Given the description of an element on the screen output the (x, y) to click on. 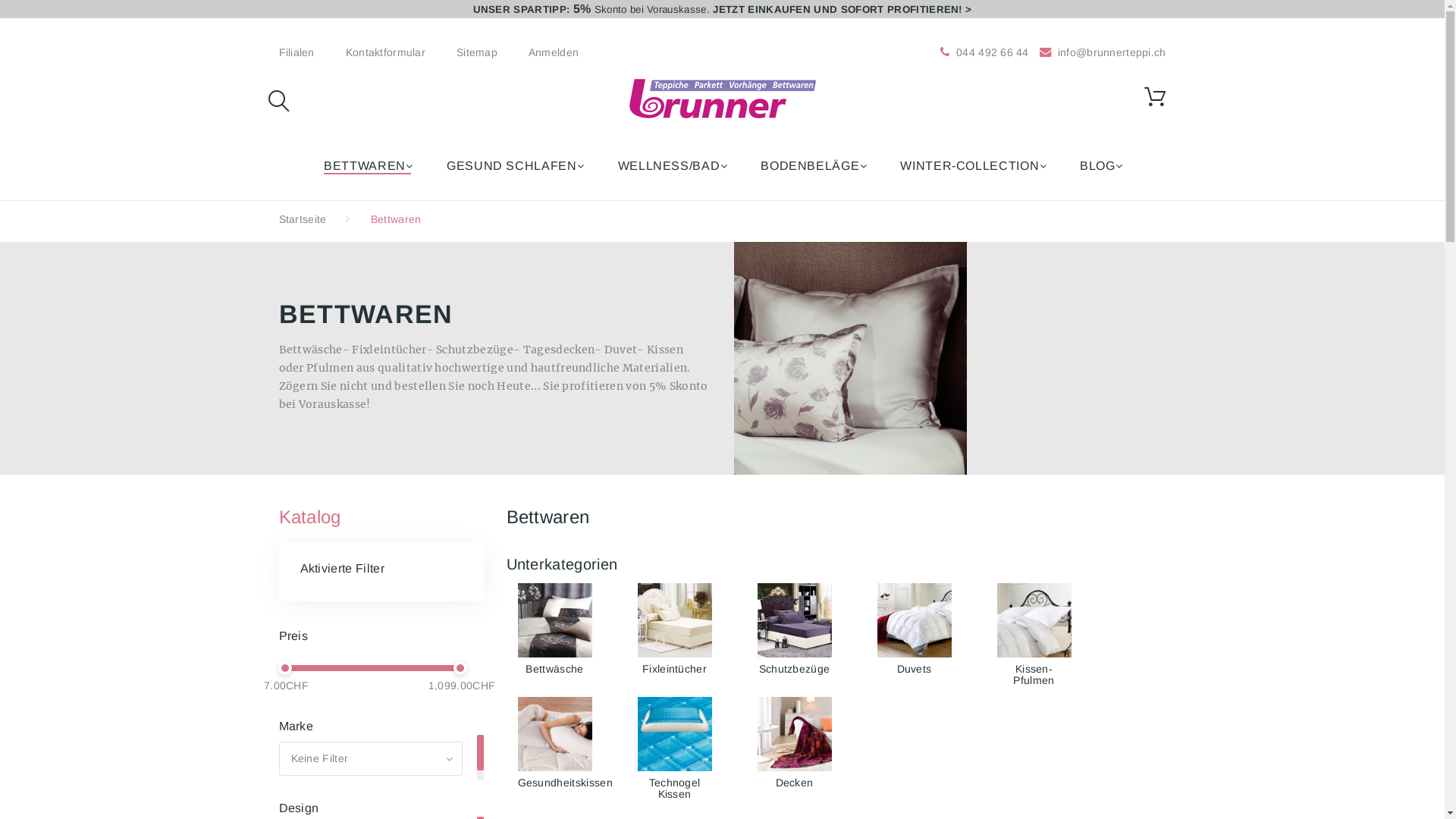
Bettwarenshop - brunnerteppi.ch Element type: hover (722, 98)
Kissen-Pfulmen Element type: text (1033, 674)
Decken Element type: text (794, 782)
Startseite Element type: text (302, 219)
Kontaktformular Element type: text (385, 52)
BETTWAREN Element type: text (367, 165)
044 492 66 44 Element type: text (992, 52)
GESUND SCHLAFEN Element type: text (514, 165)
WELLNESS/BAD Element type: text (671, 165)
Technogel Kissen Element type: hover (674, 733)
Gesundheitskissen Element type: hover (554, 733)
Technogel Kissen Element type: text (674, 788)
  info@brunnerteppi.ch Element type: text (1101, 52)
Duvets Element type: text (914, 668)
JETZT EINKAUFEN UND SOFORT PROFITIEREN! > Element type: text (841, 9)
Kissen-Pfulmen Element type: hover (1033, 620)
WINTER-COLLECTION Element type: text (971, 165)
Gesundheitskissen Element type: text (564, 782)
Filialen Element type: text (296, 52)
BLOG Element type: text (1100, 165)
Sitemap Element type: text (476, 52)
Decken Element type: hover (793, 733)
Anmelden Element type: text (553, 52)
Zum Warenkorb Element type: hover (1154, 96)
Duvets Element type: hover (913, 620)
